Given the description of an element on the screen output the (x, y) to click on. 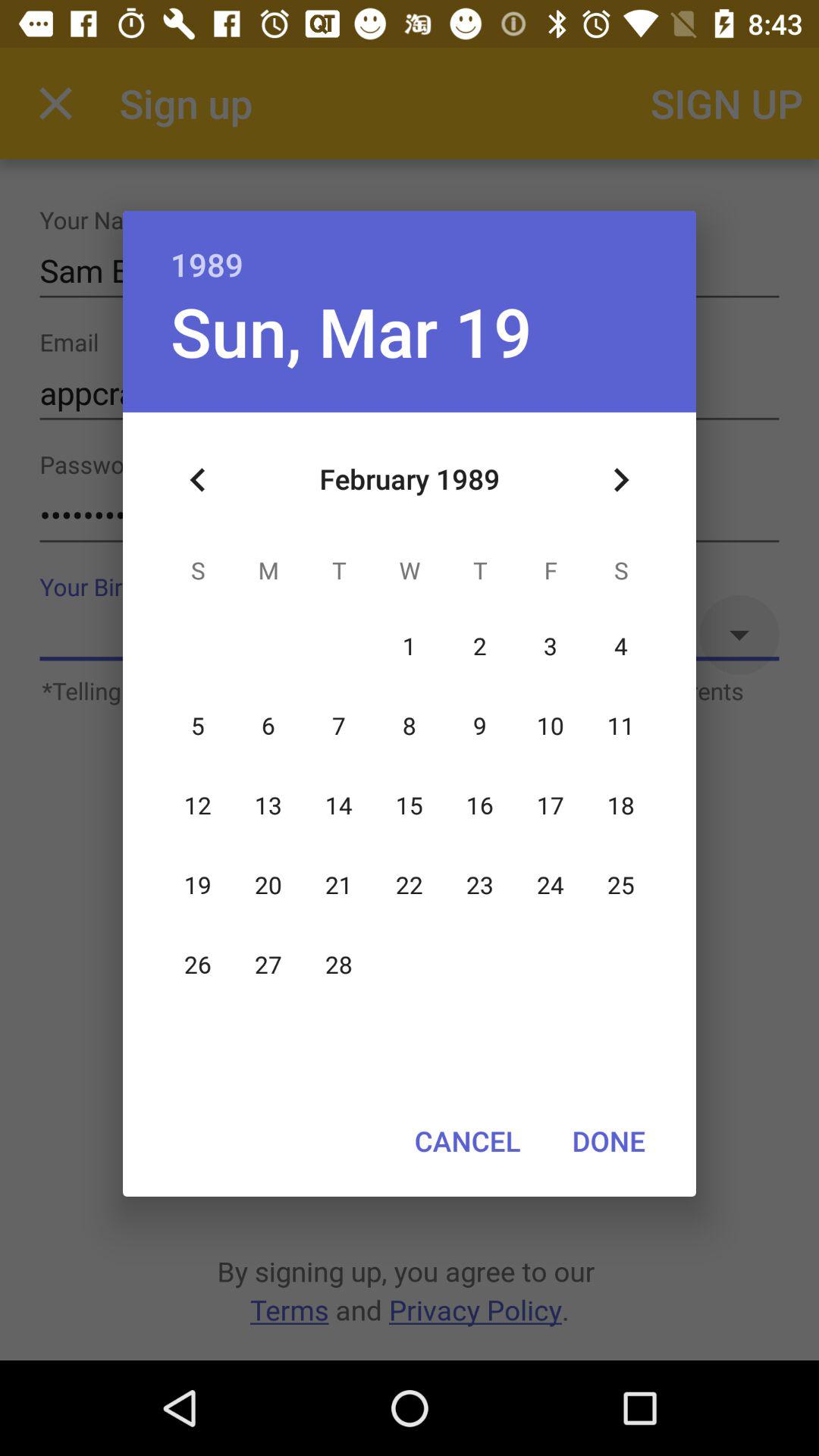
select icon to the right of the cancel (608, 1140)
